Given the description of an element on the screen output the (x, y) to click on. 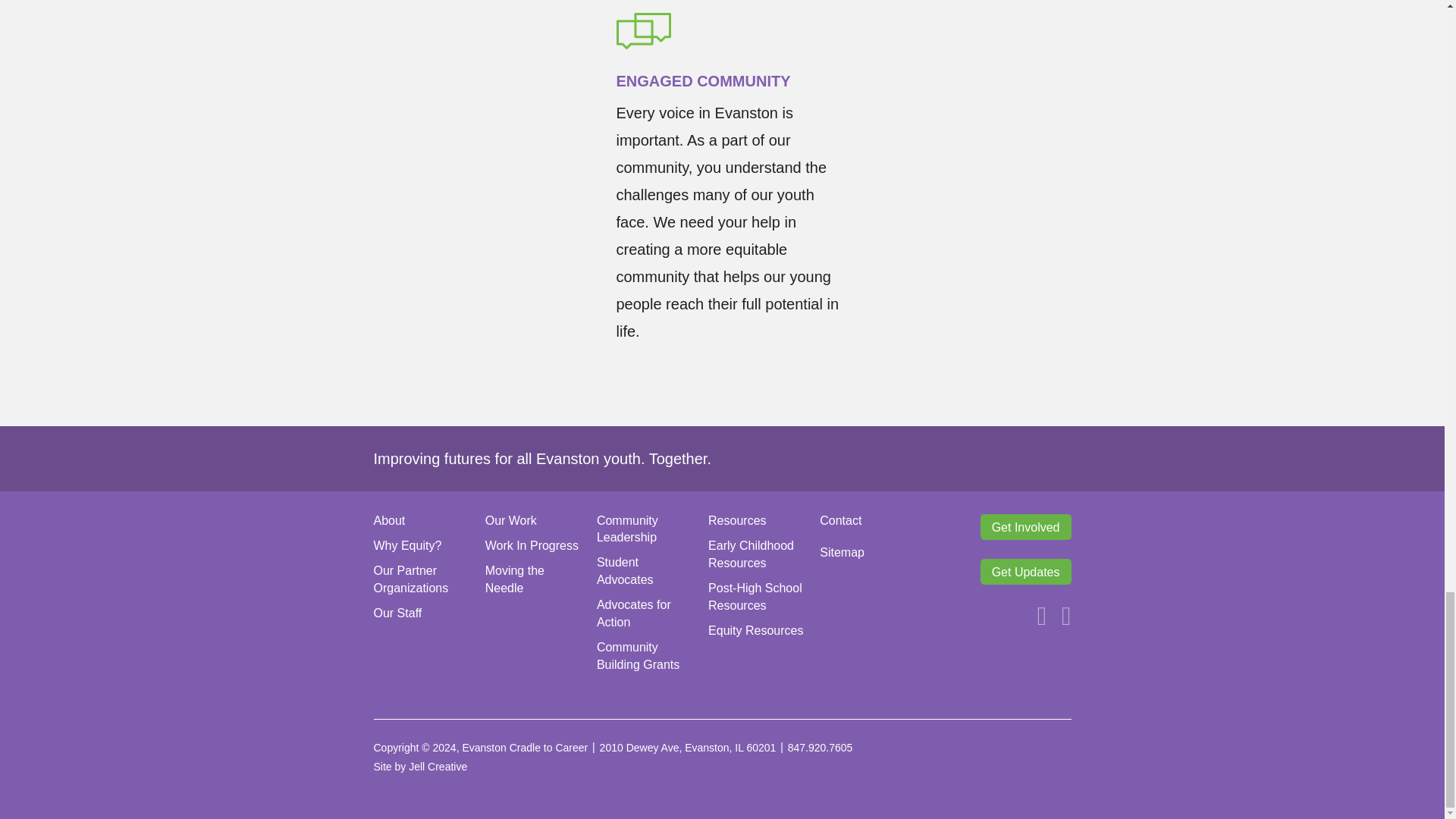
Get Involved (1025, 526)
Why Equity? (406, 545)
Our Staff (397, 612)
Our Work (532, 524)
Moving the Needle (514, 579)
Equity Resources (755, 630)
Community Leadership (644, 532)
Work In Progress (531, 545)
Resources (756, 524)
Post-High School Resources (754, 596)
